Given the description of an element on the screen output the (x, y) to click on. 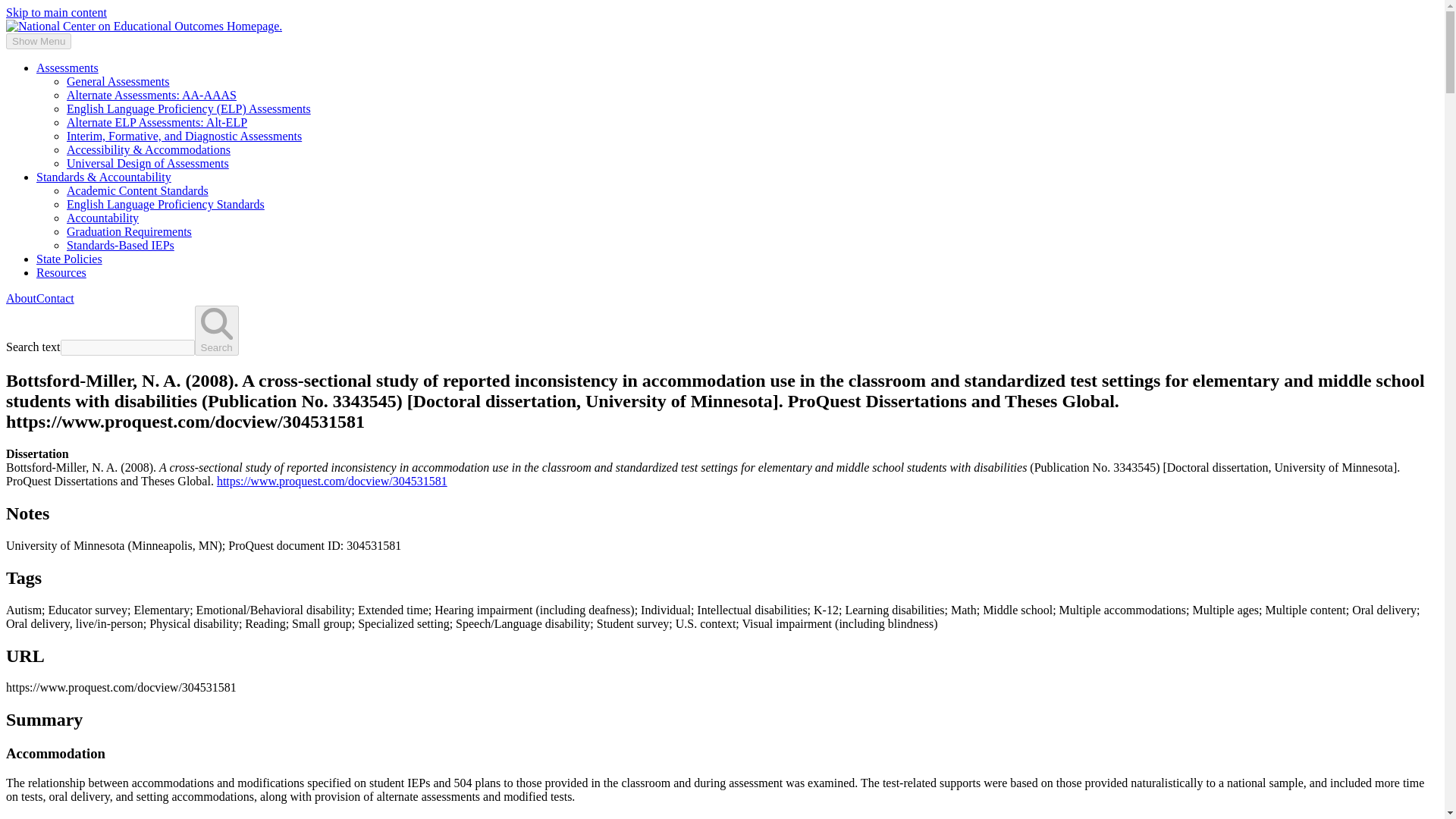
Universal Design of Assessments (147, 163)
General Assessments (118, 81)
Alternate ELP Assessments: Alt-ELP (156, 122)
Home (143, 25)
English Language Proficiency Standards (165, 204)
Academic Content Standards (137, 190)
Resources (60, 272)
Standards-Based IEPs (120, 245)
Contact (55, 297)
Search (216, 330)
About (20, 297)
Show Menu (38, 41)
Accountability (102, 217)
State Policies (68, 258)
Skip to main content (55, 11)
